Given the description of an element on the screen output the (x, y) to click on. 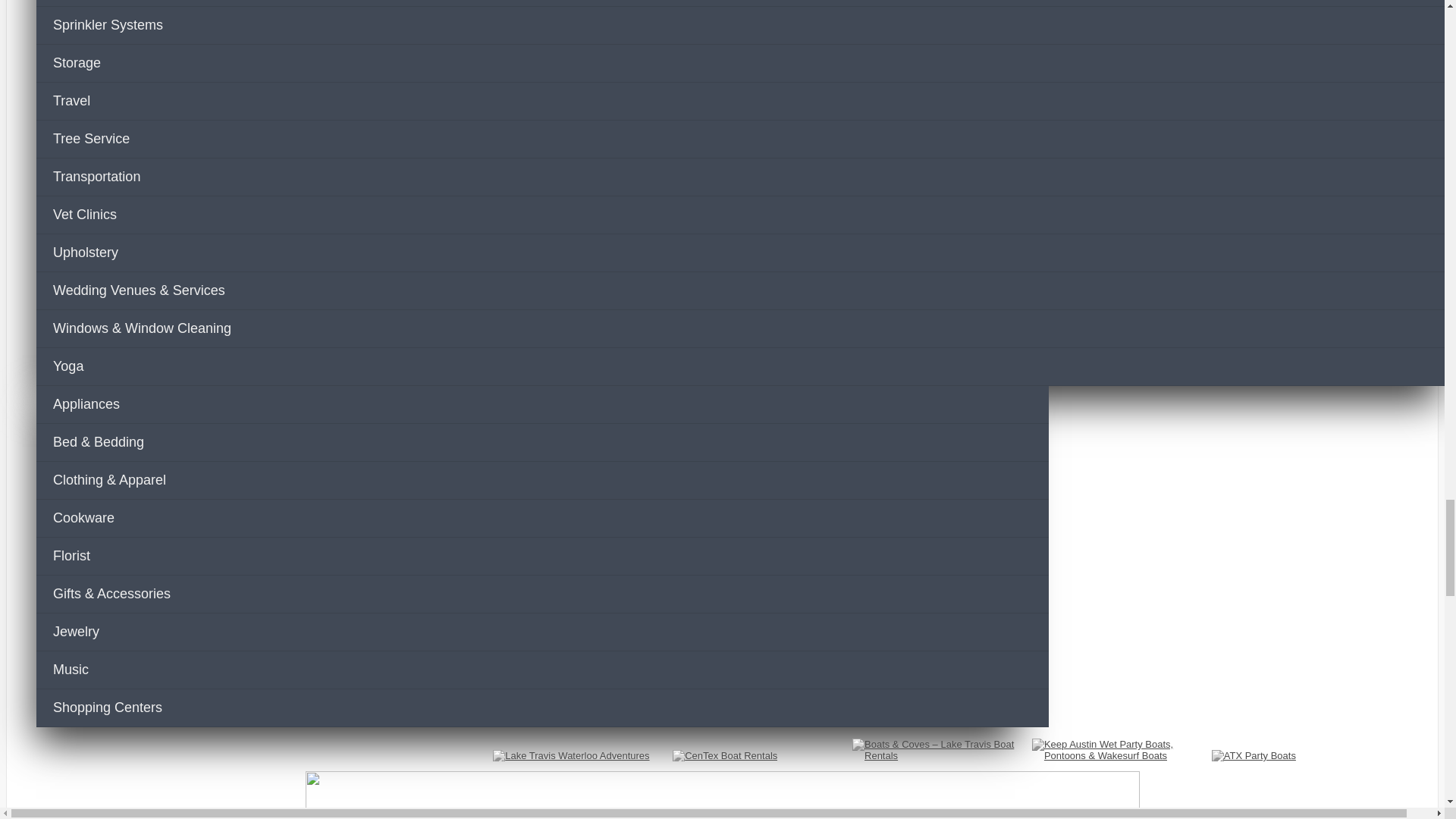
ATX Party Boats (1253, 755)
Lake Travis Waterloo Adventures (571, 755)
CenTex Boat Rentals (724, 755)
